Given the description of an element on the screen output the (x, y) to click on. 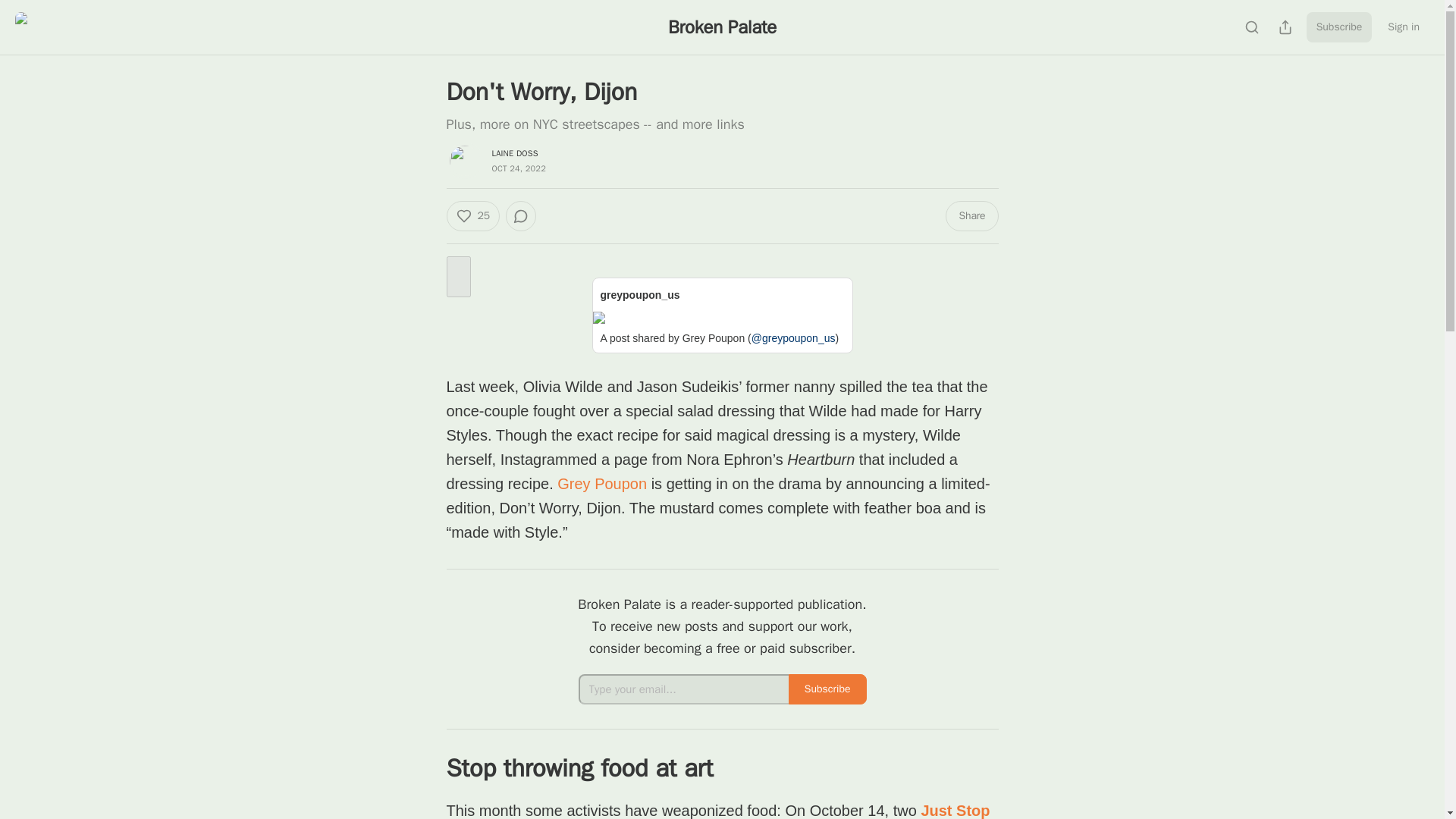
Subscribe (827, 689)
Broken Palate (722, 26)
Share (970, 215)
Just Stop Oil (717, 810)
Grey Poupon (601, 483)
25 (472, 215)
Sign in (1403, 27)
Subscribe (1339, 27)
LAINE DOSS (514, 153)
